Given the description of an element on the screen output the (x, y) to click on. 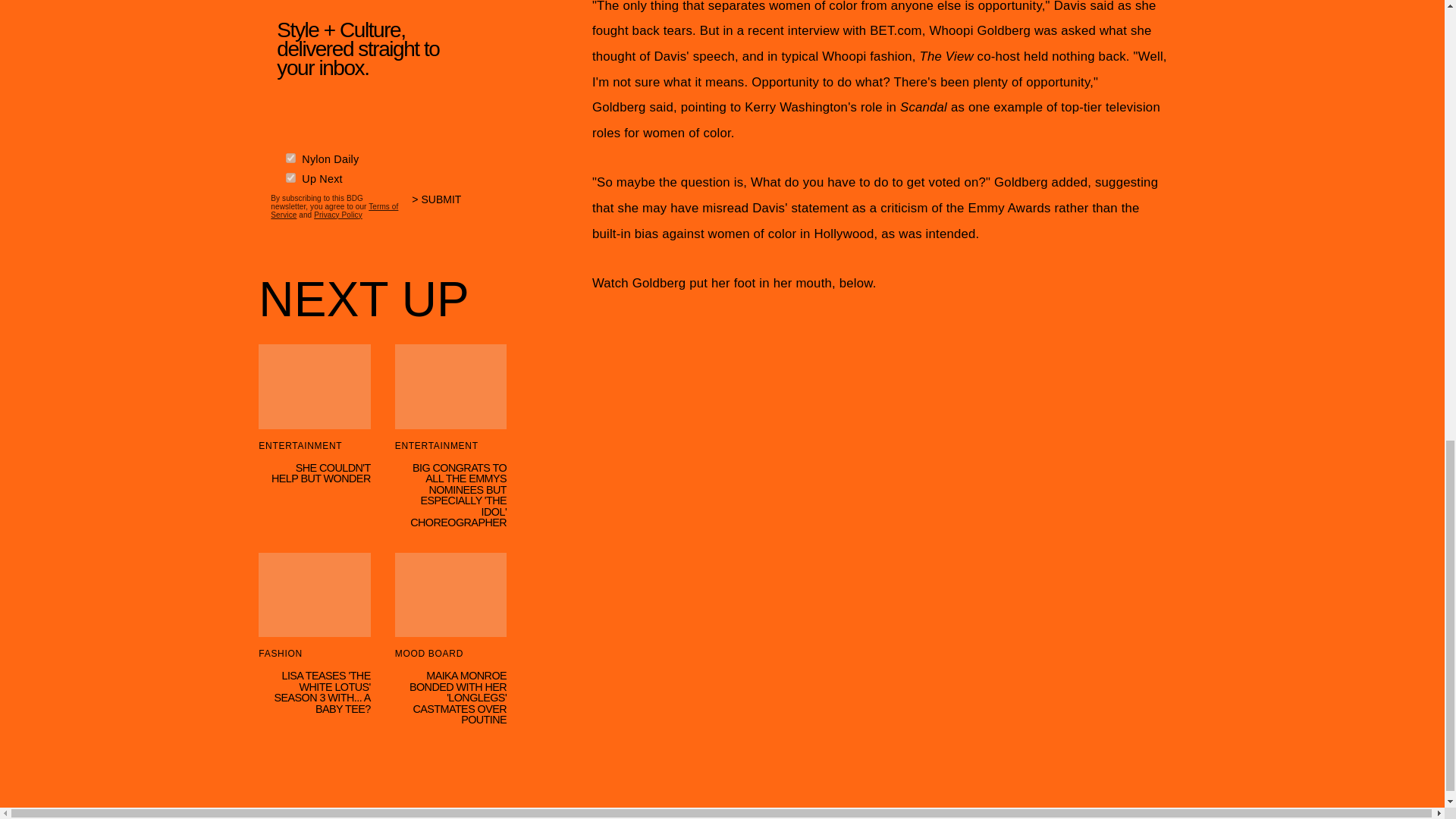
SUBMIT (443, 204)
Privacy Policy (338, 212)
Terms of Service (333, 207)
